Given the description of an element on the screen output the (x, y) to click on. 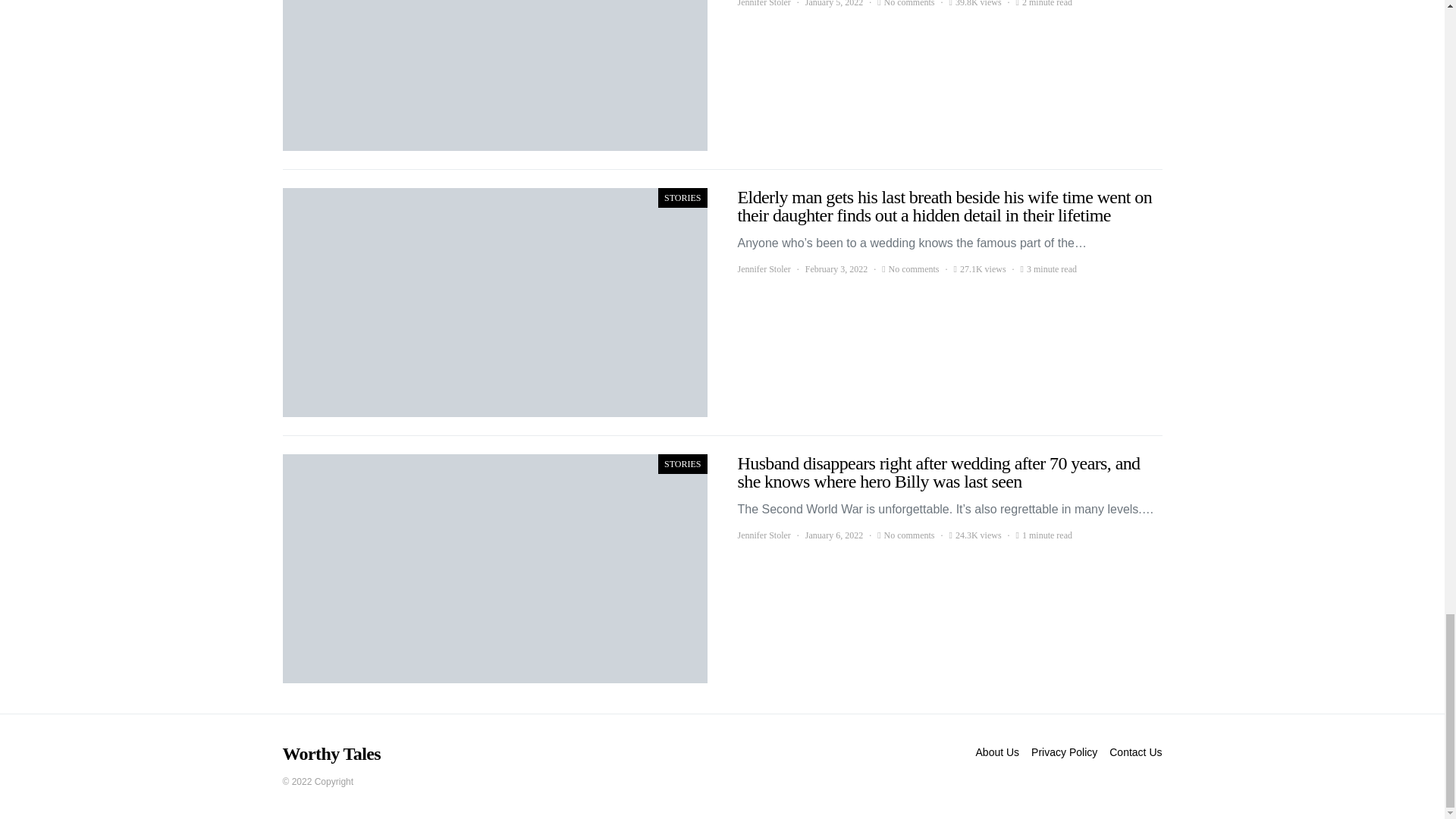
No comments (908, 4)
Contact Us (1135, 752)
Privacy Policy (1064, 752)
Jennifer Stoler (763, 269)
No comments (913, 269)
About Us (997, 752)
STORIES (682, 198)
STORIES (682, 464)
